Given the description of an element on the screen output the (x, y) to click on. 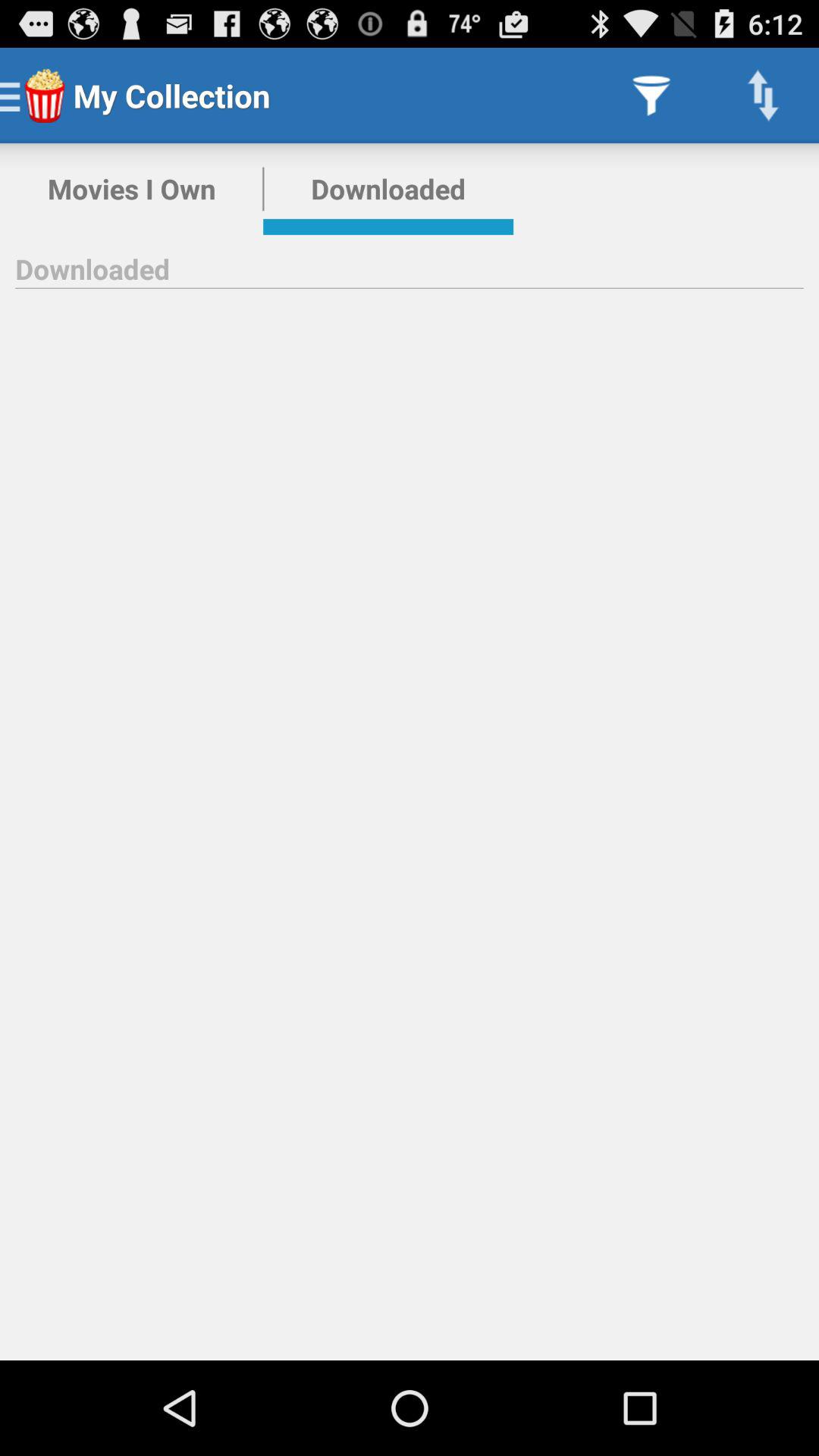
tap app next to downloaded (131, 188)
